Given the description of an element on the screen output the (x, y) to click on. 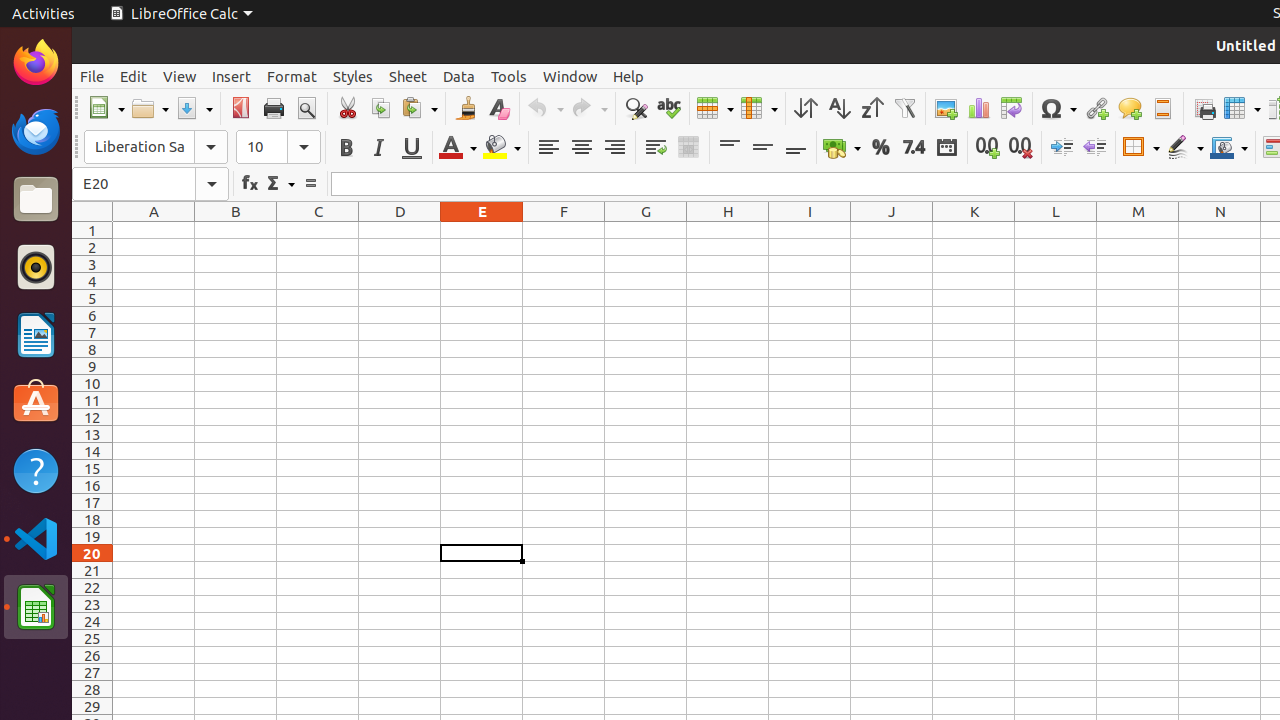
File Element type: menu (92, 76)
Underline Element type: push-button (411, 147)
Save Element type: push-button (194, 108)
Sort Ascending Element type: push-button (838, 108)
Insert Element type: menu (231, 76)
